Given the description of an element on the screen output the (x, y) to click on. 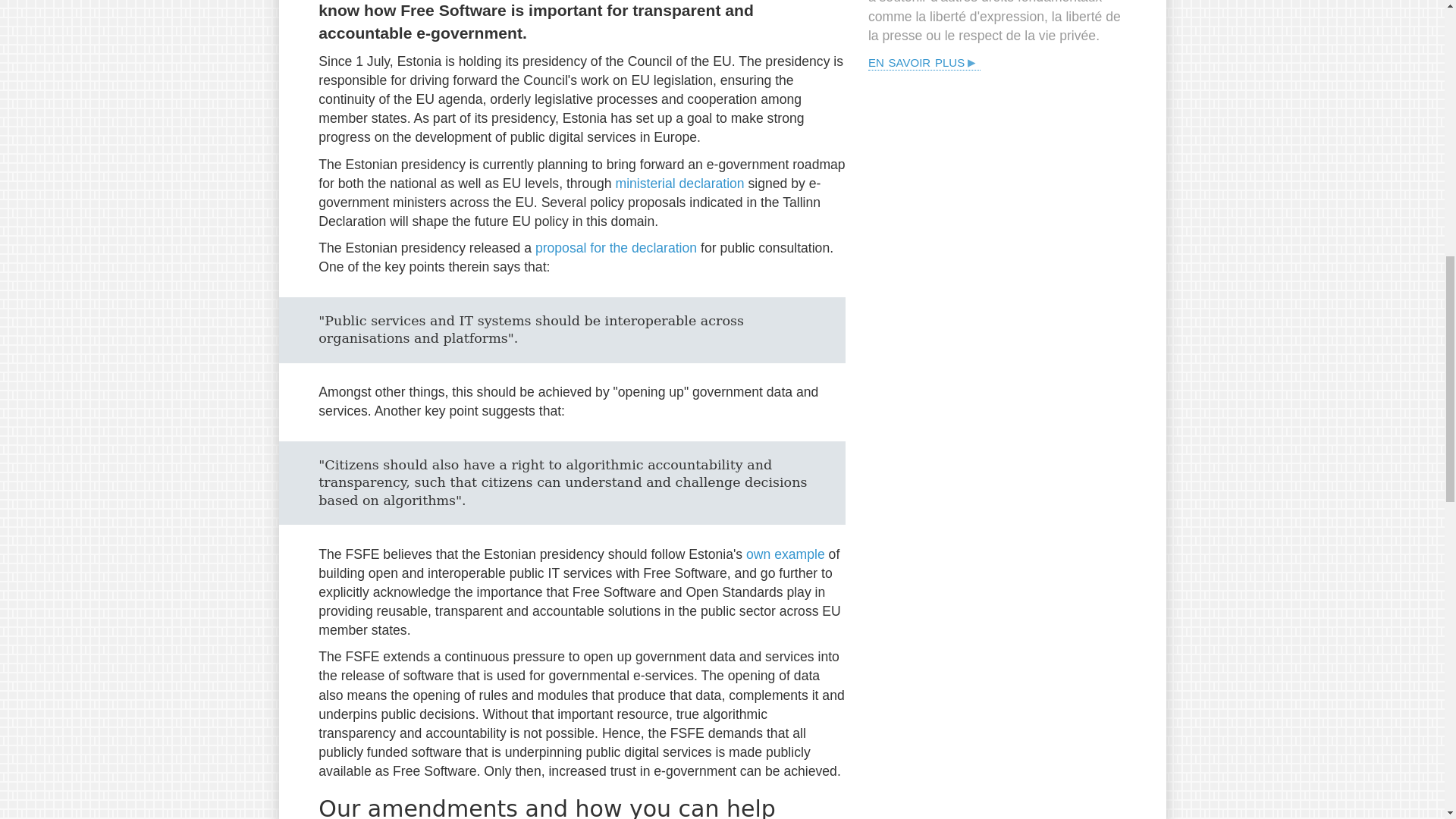
proposal for the declaration (616, 247)
own example (785, 554)
en savoir plus (923, 61)
ministerial declaration (679, 183)
